Given the description of an element on the screen output the (x, y) to click on. 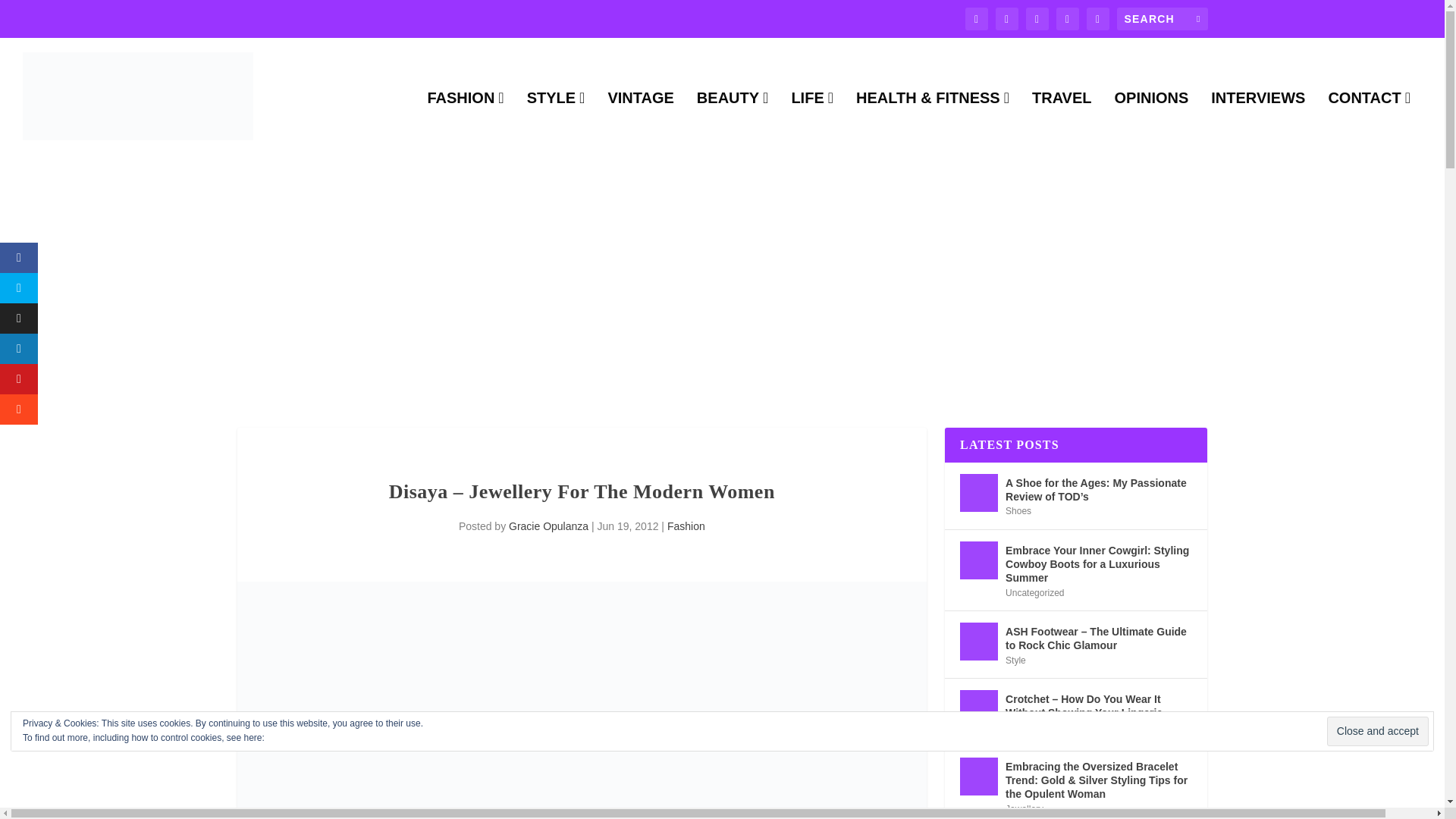
Close and accept (1377, 731)
BEAUTY (732, 122)
STYLE (556, 122)
VINTAGE (639, 122)
Search for: (1161, 18)
Posts by Gracie Opulanza (548, 526)
FASHION (464, 122)
